Given the description of an element on the screen output the (x, y) to click on. 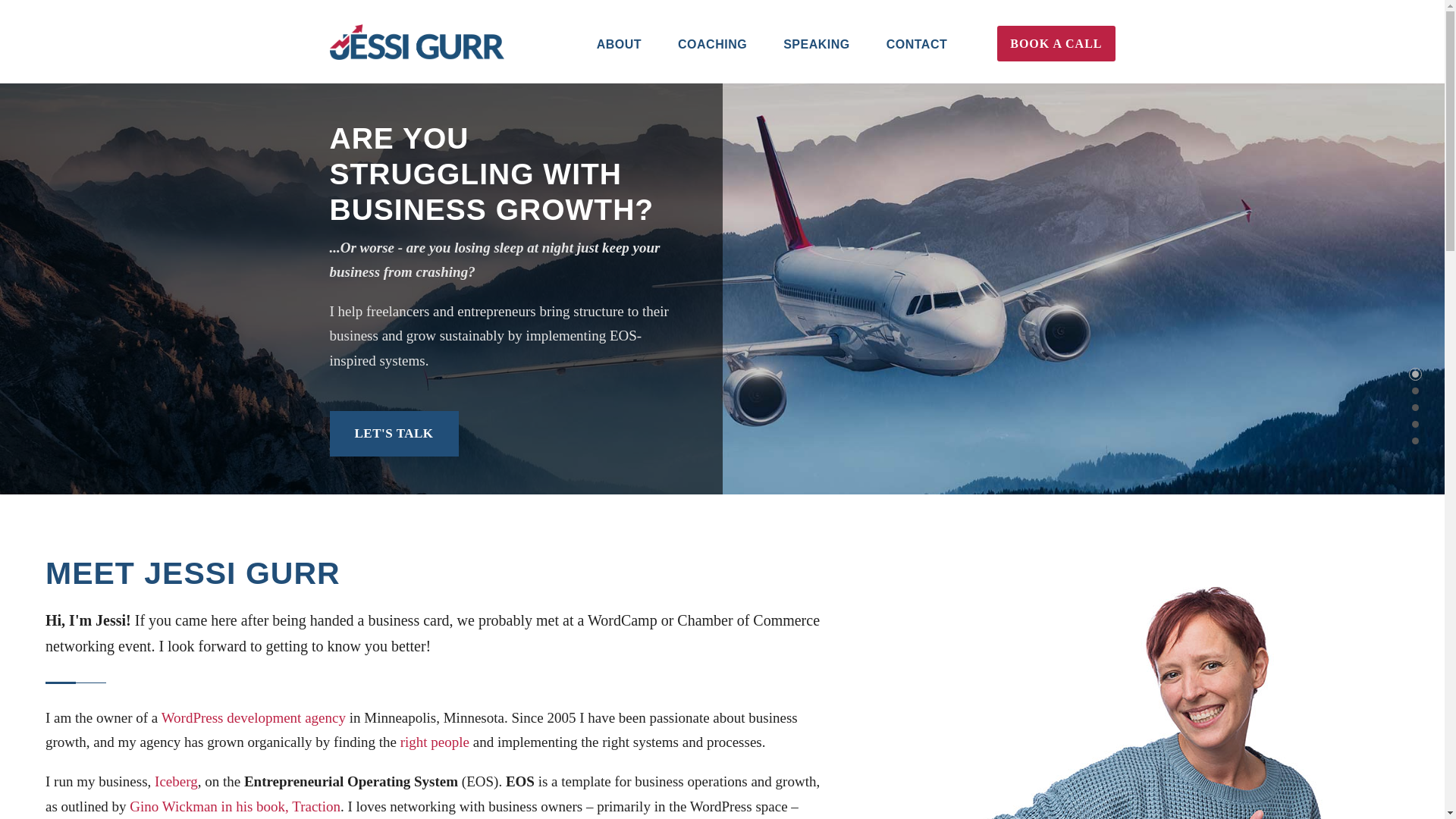
Jessi Gurr (416, 41)
Gino Wickman in his book, Traction (234, 806)
Iceberg (176, 781)
WordPress development agency (253, 717)
SPEAKING (816, 58)
BOOK A CALL (1056, 43)
right people (434, 741)
COACHING (712, 58)
ABOUT (619, 58)
LET'S TALK (393, 433)
CONTACT (916, 58)
Jessigurr Thumbsup (1155, 690)
